Given the description of an element on the screen output the (x, y) to click on. 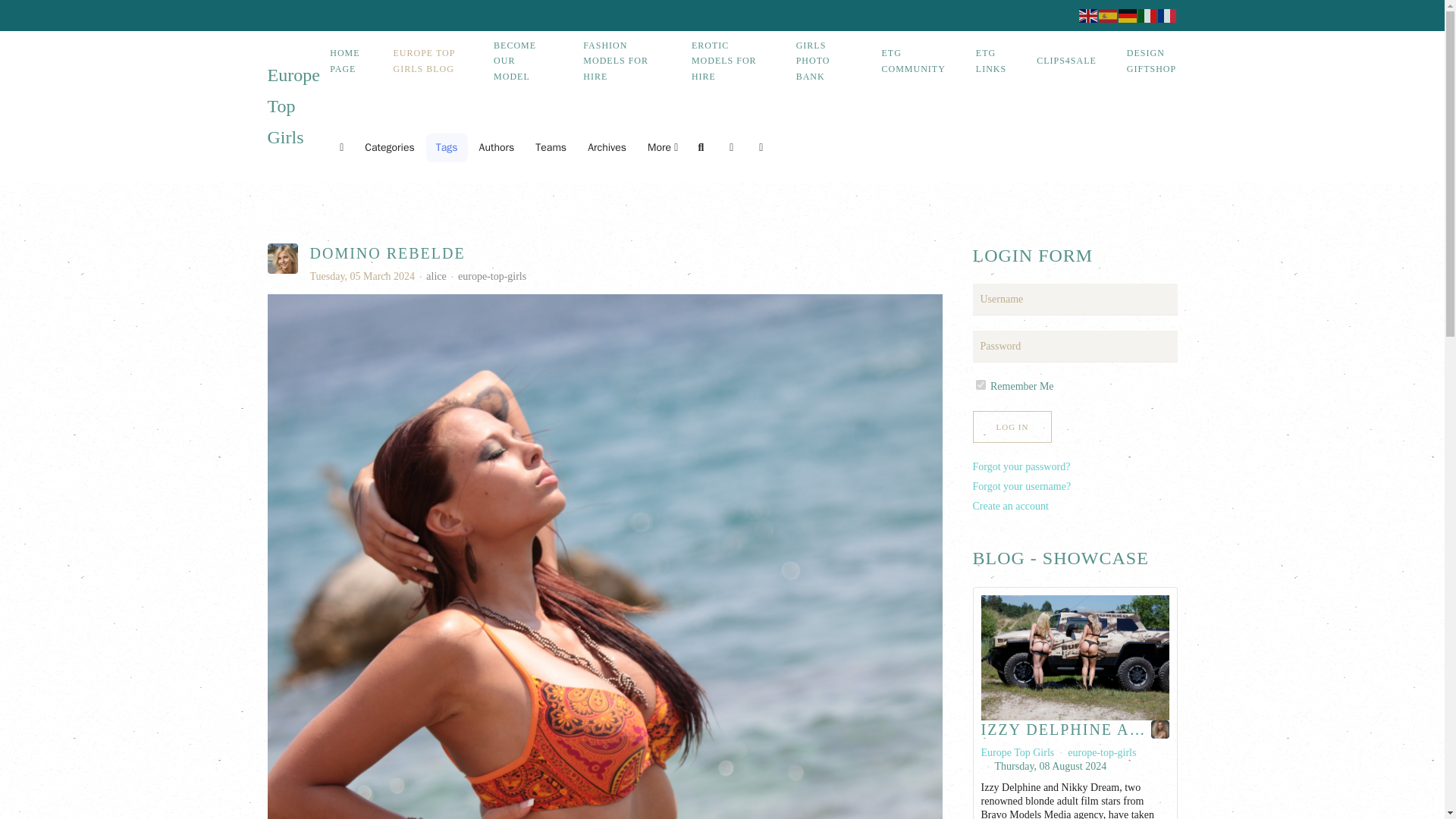
CLIPS4SALE (1066, 61)
Authors (496, 147)
Authors (496, 147)
EUROPE TOP GIRLS BLOG (428, 61)
Deutsch (1127, 14)
Archives (607, 147)
Archives (607, 147)
BECOME OUR MODEL (523, 61)
EROTIC MODELS FOR HIRE (728, 61)
yes (980, 384)
